Given the description of an element on the screen output the (x, y) to click on. 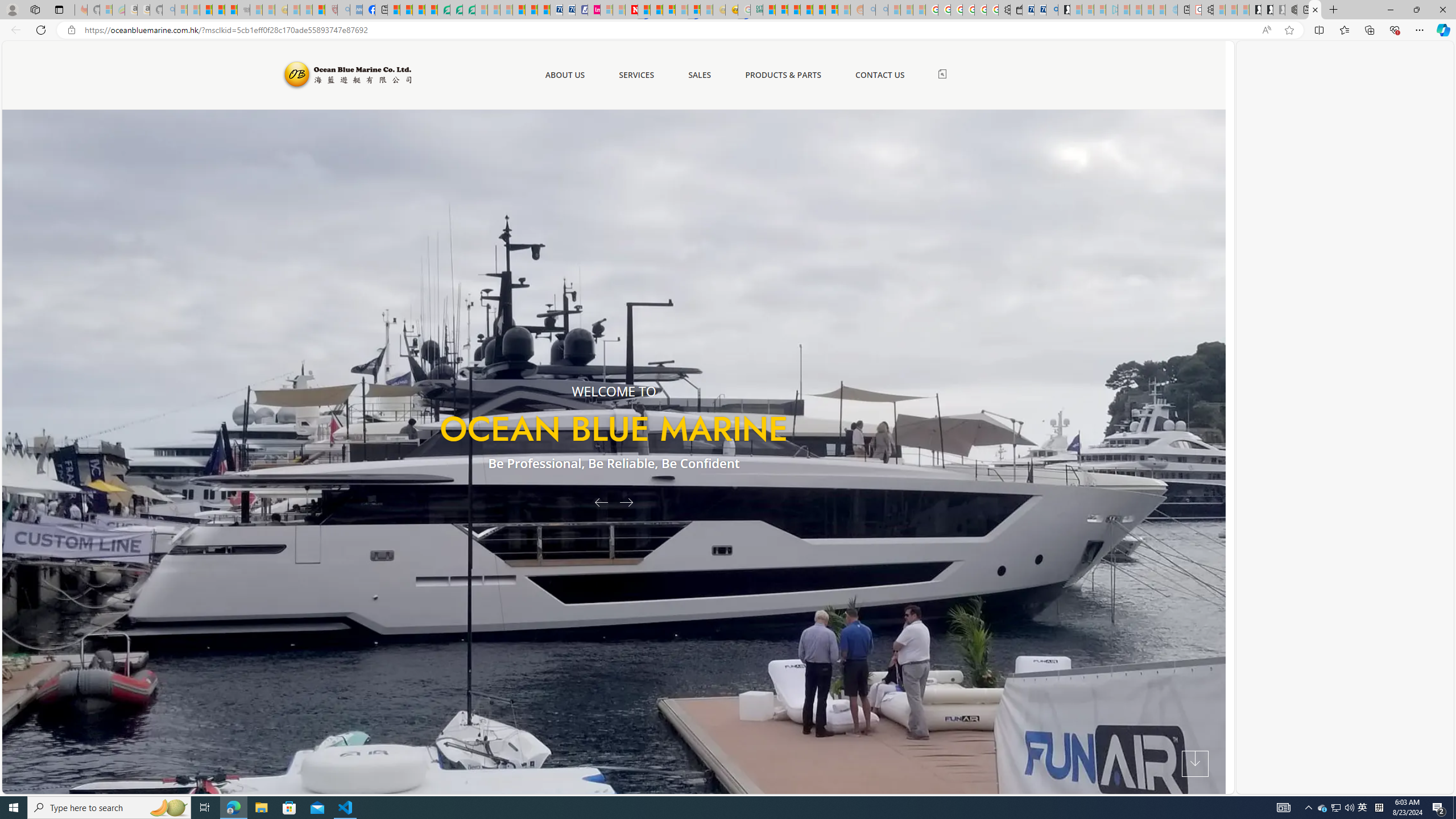
Jobs - lastminute.com Investor Portal (593, 9)
Ocean Blue Marine (345, 74)
